Given the description of an element on the screen output the (x, y) to click on. 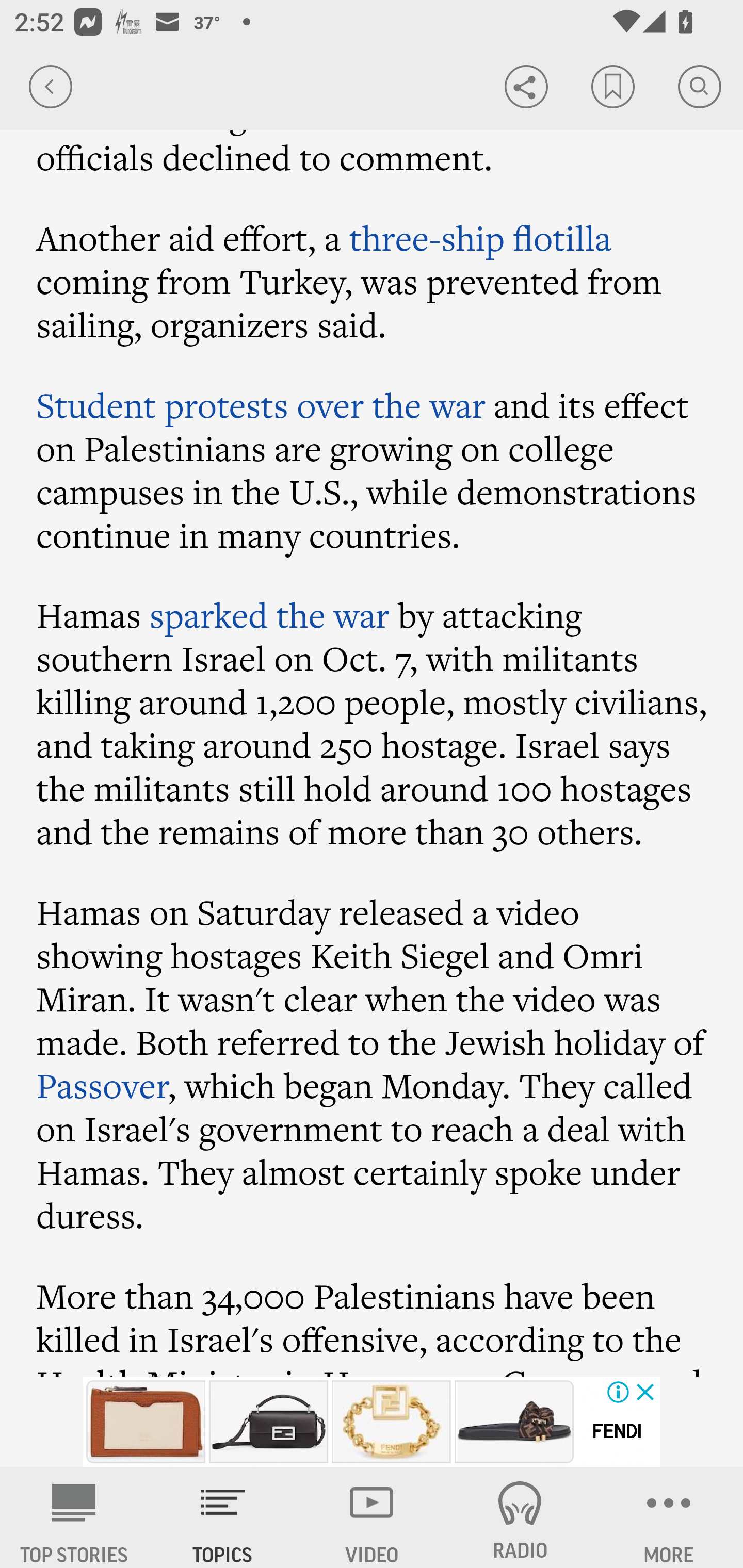
three-ship flotilla (480, 237)
Student protests over the war (260, 404)
sparked the war (268, 615)
Passover (102, 1083)
fendi-feel-brown-satin-slides-8x8142ae7sf0r7v (513, 1420)
AP News TOP STORIES (74, 1517)
TOPICS (222, 1517)
VIDEO (371, 1517)
RADIO (519, 1517)
MORE (668, 1517)
